Given the description of an element on the screen output the (x, y) to click on. 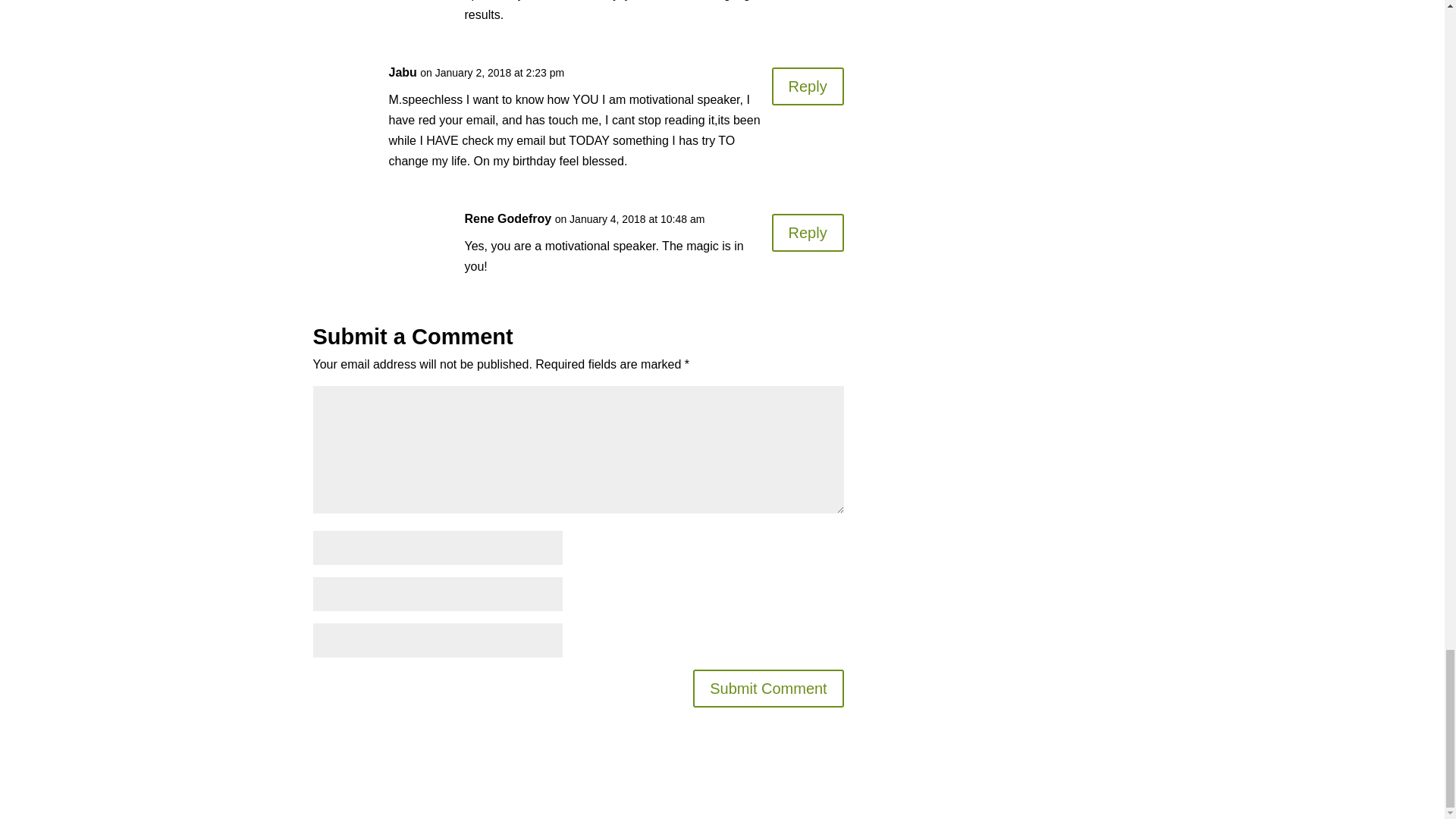
Reply (807, 86)
Rene Godefroy (507, 218)
